Given the description of an element on the screen output the (x, y) to click on. 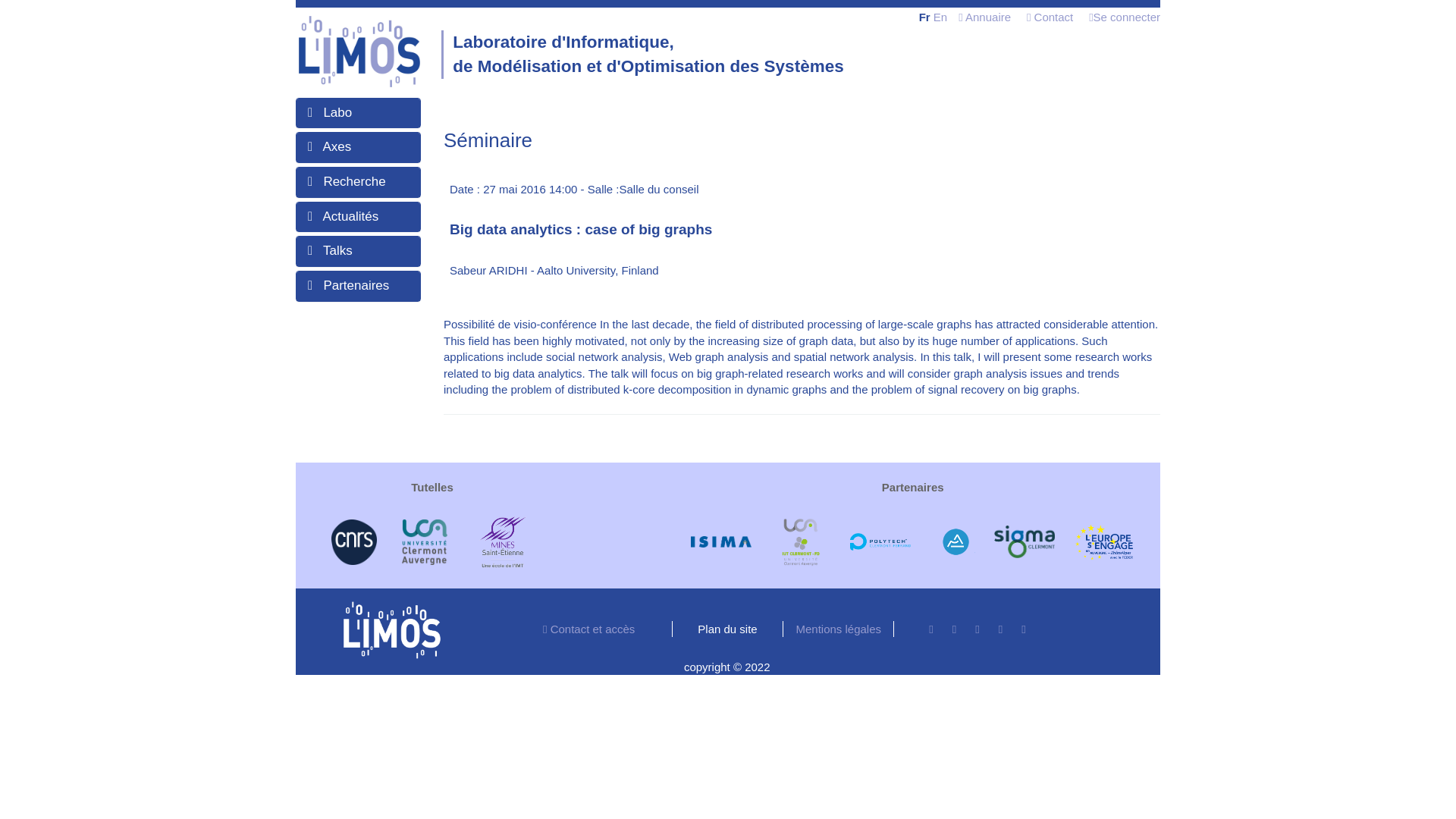
Recherche (354, 181)
Se connecter (1124, 16)
Partenaires (355, 285)
Axes (335, 146)
En (940, 16)
Annuaire (984, 16)
Contact (1049, 16)
Talks (337, 250)
Labo (337, 112)
